Given the description of an element on the screen output the (x, y) to click on. 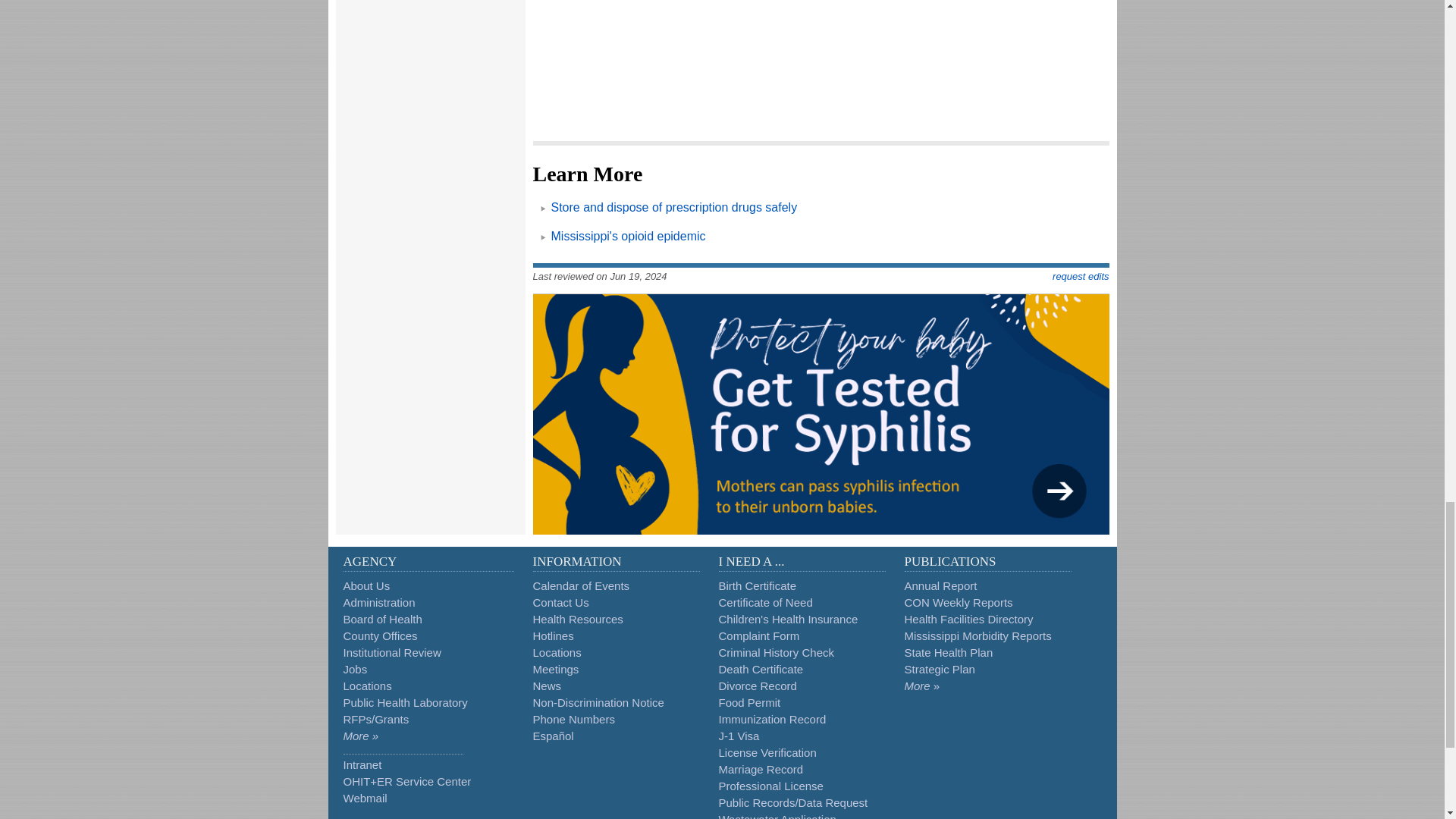
Video: How naloxone kits save save lives (816, 47)
Store and dispose of prescription drugs safely (673, 206)
Request an update or correction to this web page (1080, 276)
